Given the description of an element on the screen output the (x, y) to click on. 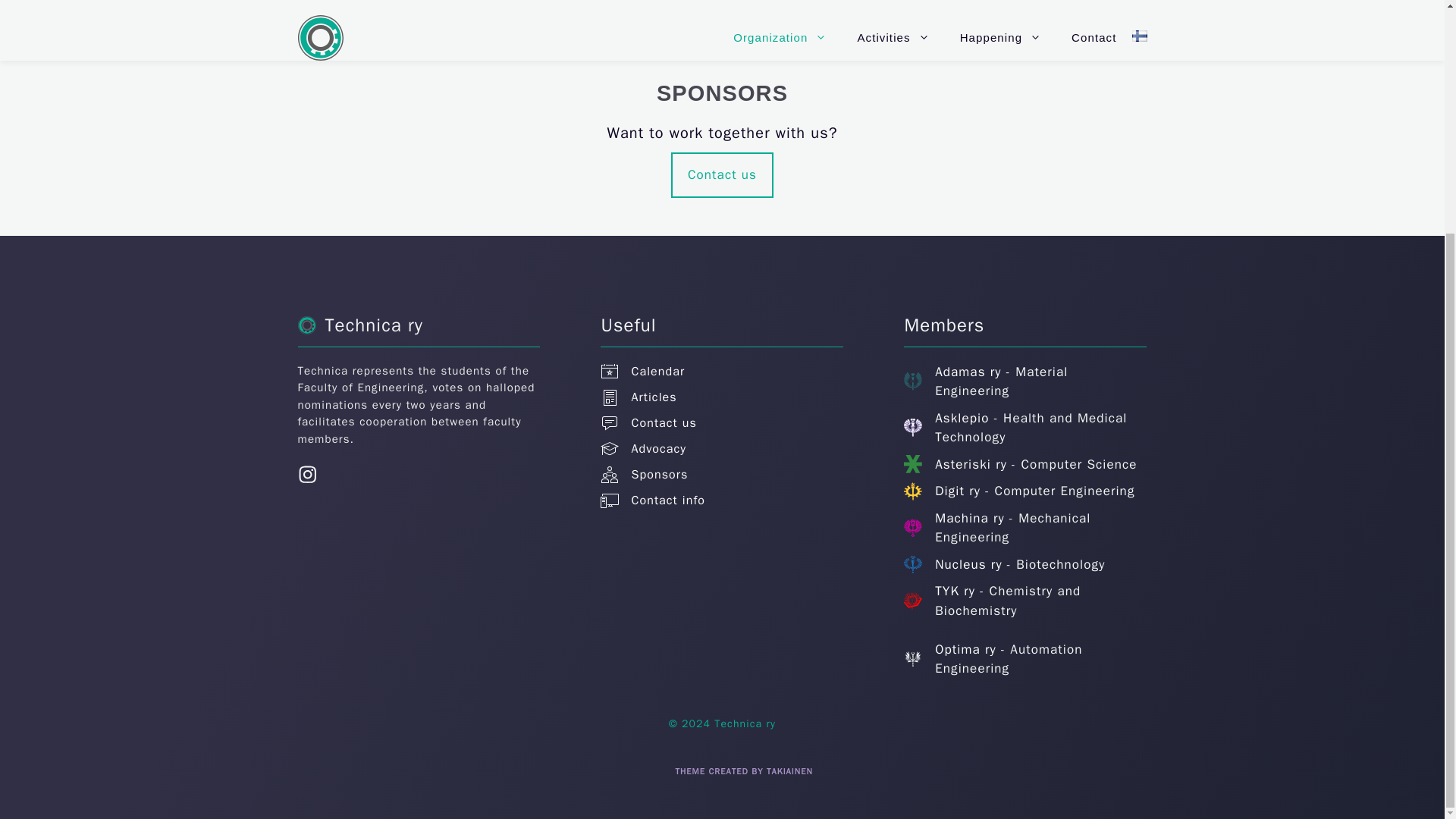
Contact us (722, 175)
GO TO (651, 11)
GO TO (403, 11)
